Given the description of an element on the screen output the (x, y) to click on. 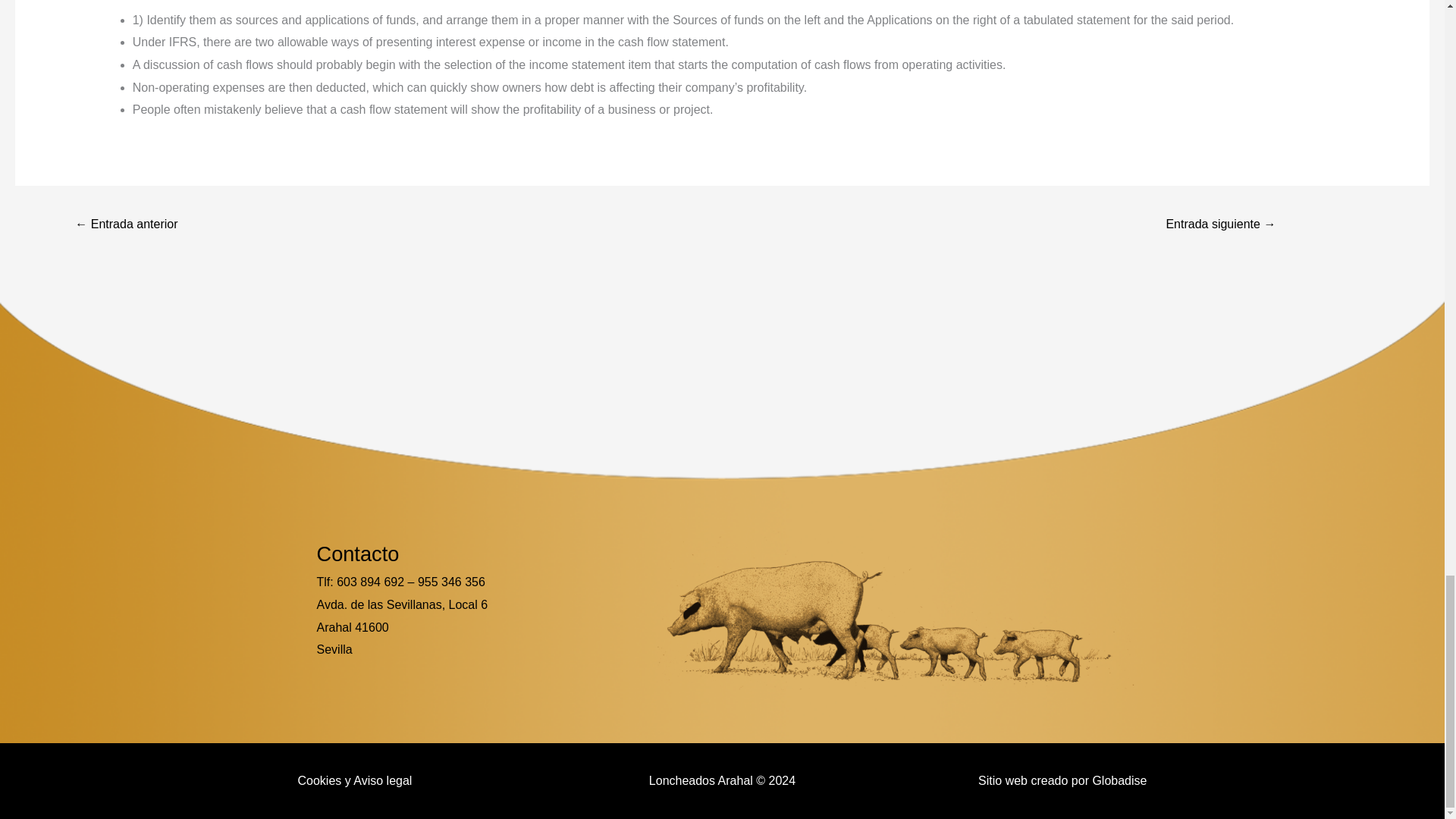
How can I invoice clients in Hubstaff Time Tracking? (125, 225)
Coping Skills for Stress and Uncomfortable Emotions (1220, 225)
Cookies y Aviso legal (354, 780)
Sitio web creado por Globadise (1062, 780)
